Given the description of an element on the screen output the (x, y) to click on. 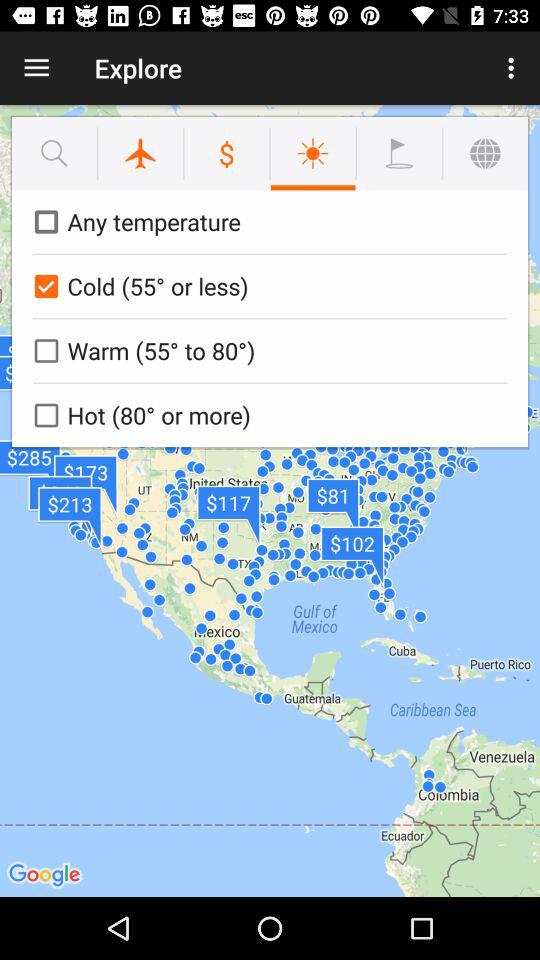
swipe to the any temperature icon (266, 221)
